Given the description of an element on the screen output the (x, y) to click on. 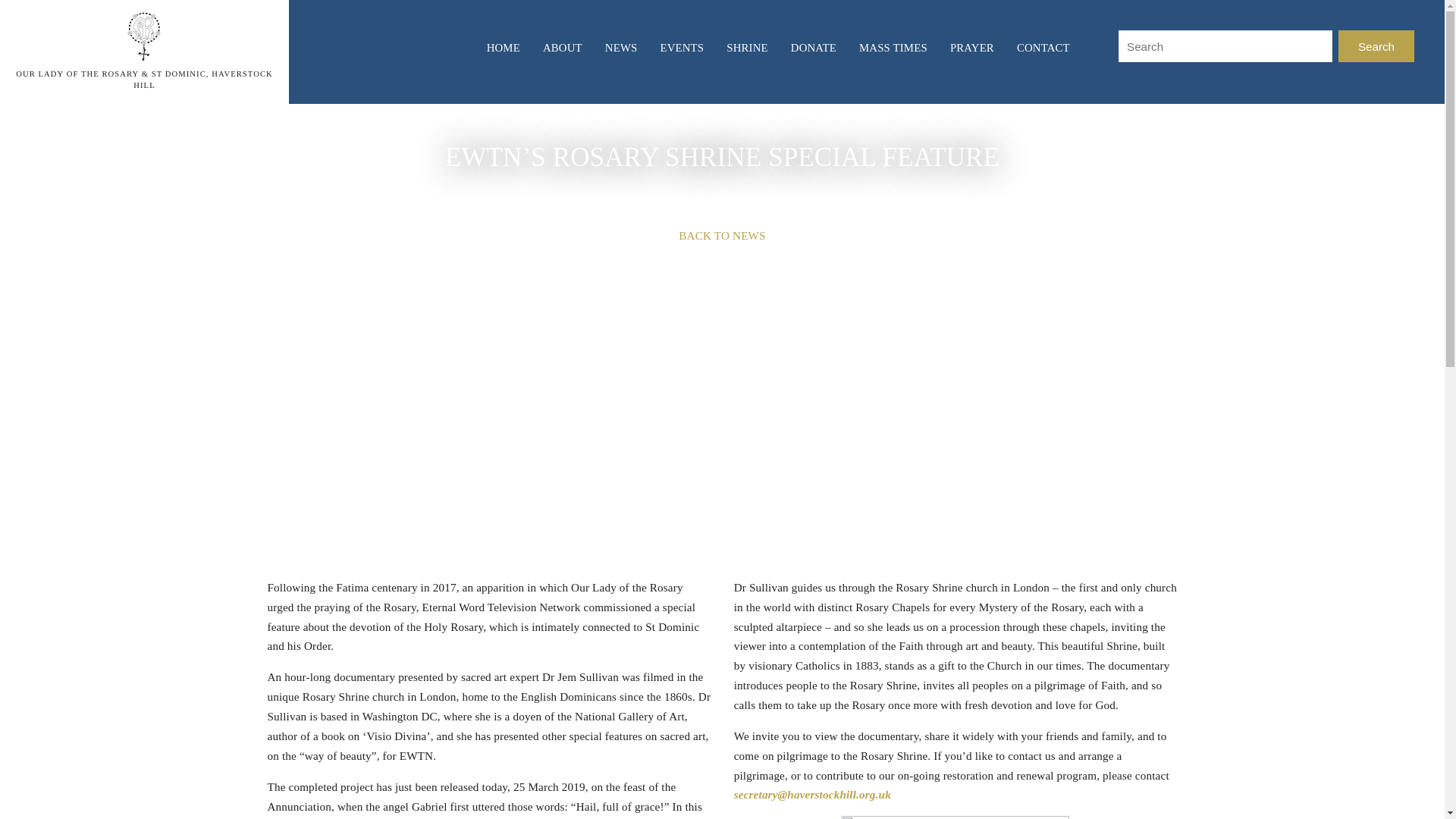
Rosary Shrine (144, 34)
NEWS (621, 49)
DONATE (812, 49)
MASS TIMES (893, 49)
HOME (502, 49)
SHRINE (746, 49)
PRAYER (972, 49)
ABOUT (562, 49)
EVENTS (681, 49)
